Given the description of an element on the screen output the (x, y) to click on. 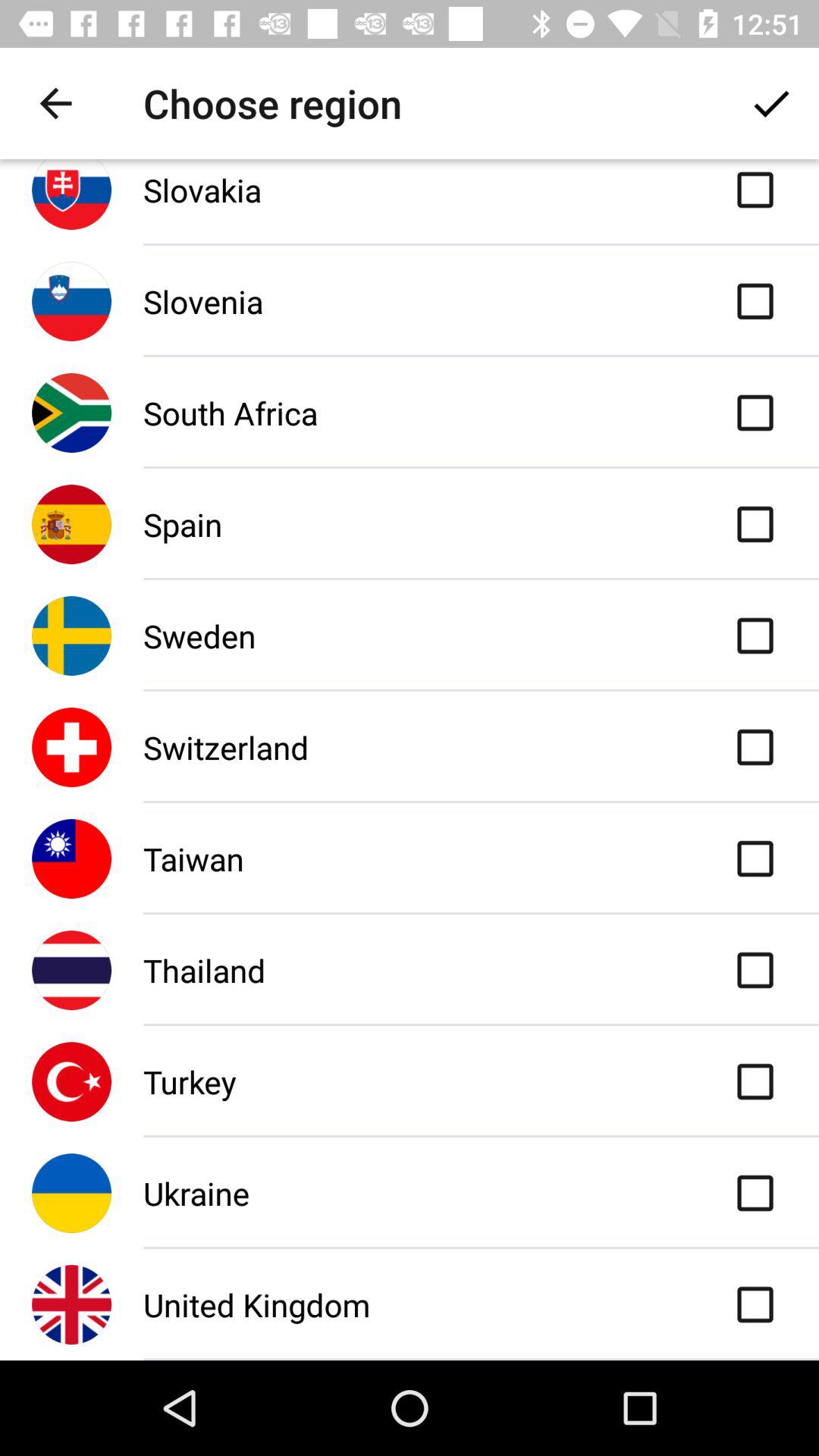
turn off icon to the left of choose region (55, 103)
